Given the description of an element on the screen output the (x, y) to click on. 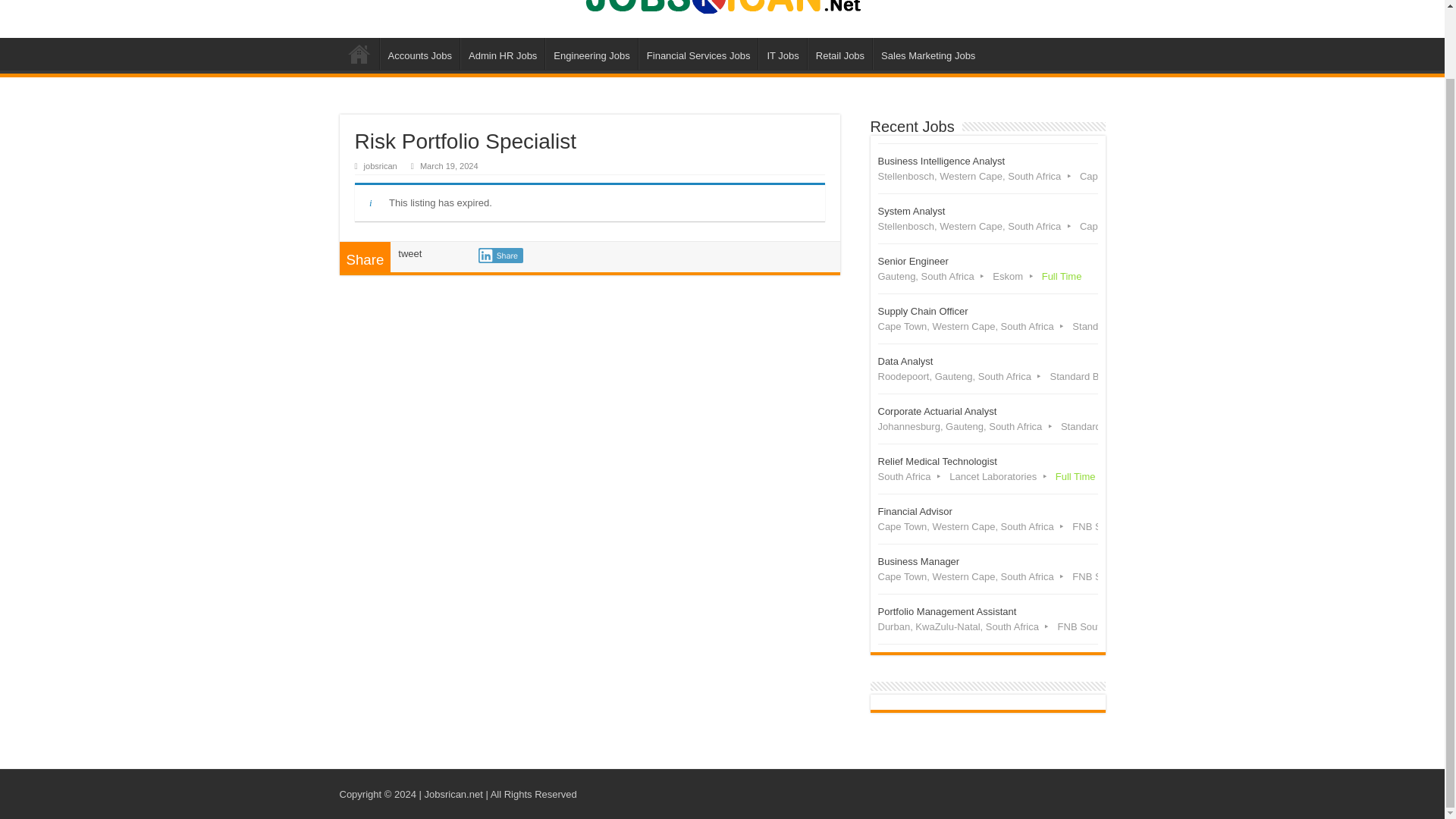
Accounts Jobs (419, 53)
Home (358, 53)
IT Jobs (782, 53)
Share (500, 255)
Engineering Jobs (590, 53)
Retail Jobs (840, 53)
